Given the description of an element on the screen output the (x, y) to click on. 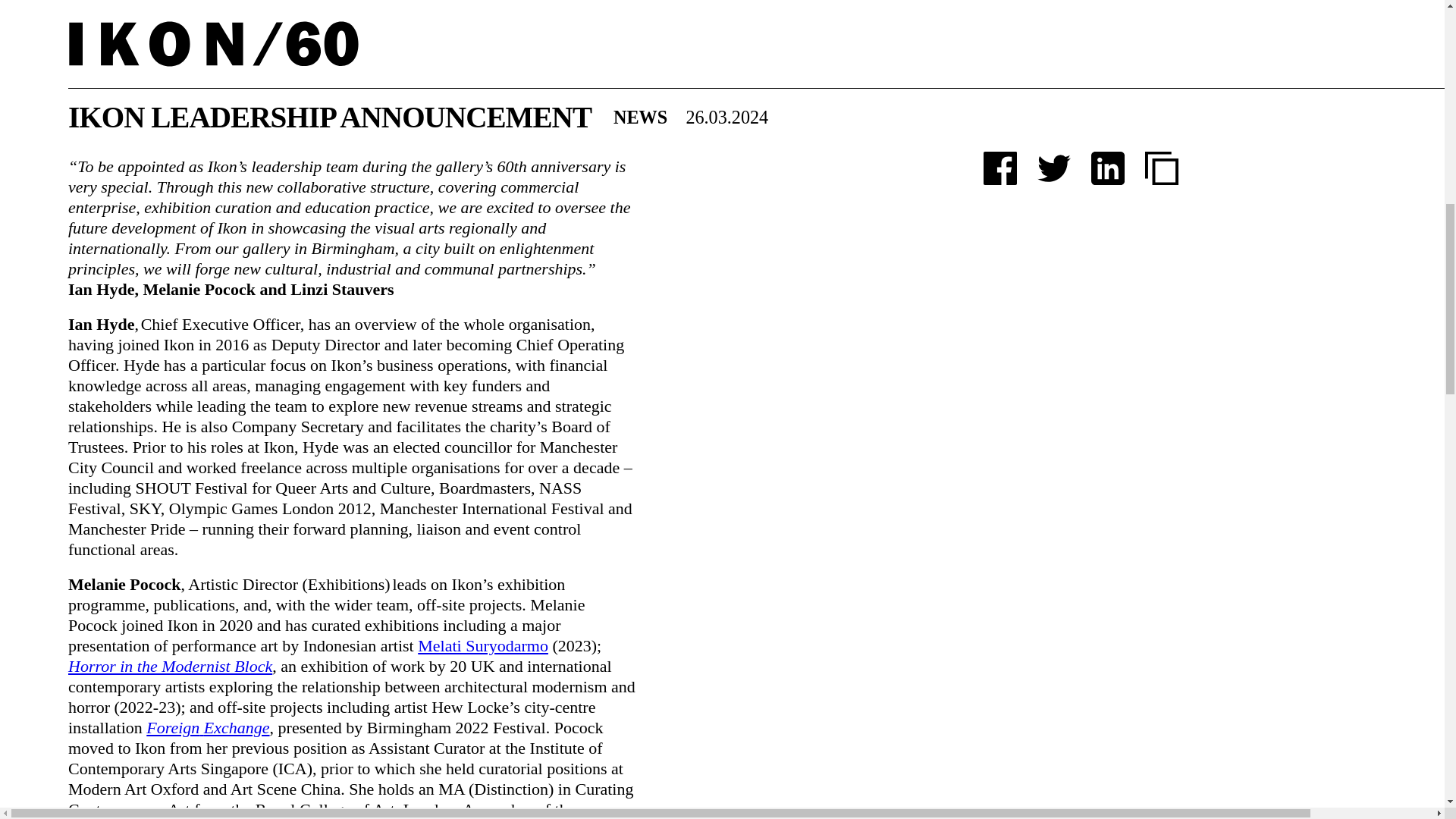
Share on Twitter (1053, 86)
Melati Suryodarmo (482, 645)
Foreign Exchange (208, 727)
Horror in the Modernist Block (170, 665)
Copy URL to clipboard (1160, 86)
Share on Facebook (1000, 86)
Share on LinkedIn (1107, 86)
